Given the description of an element on the screen output the (x, y) to click on. 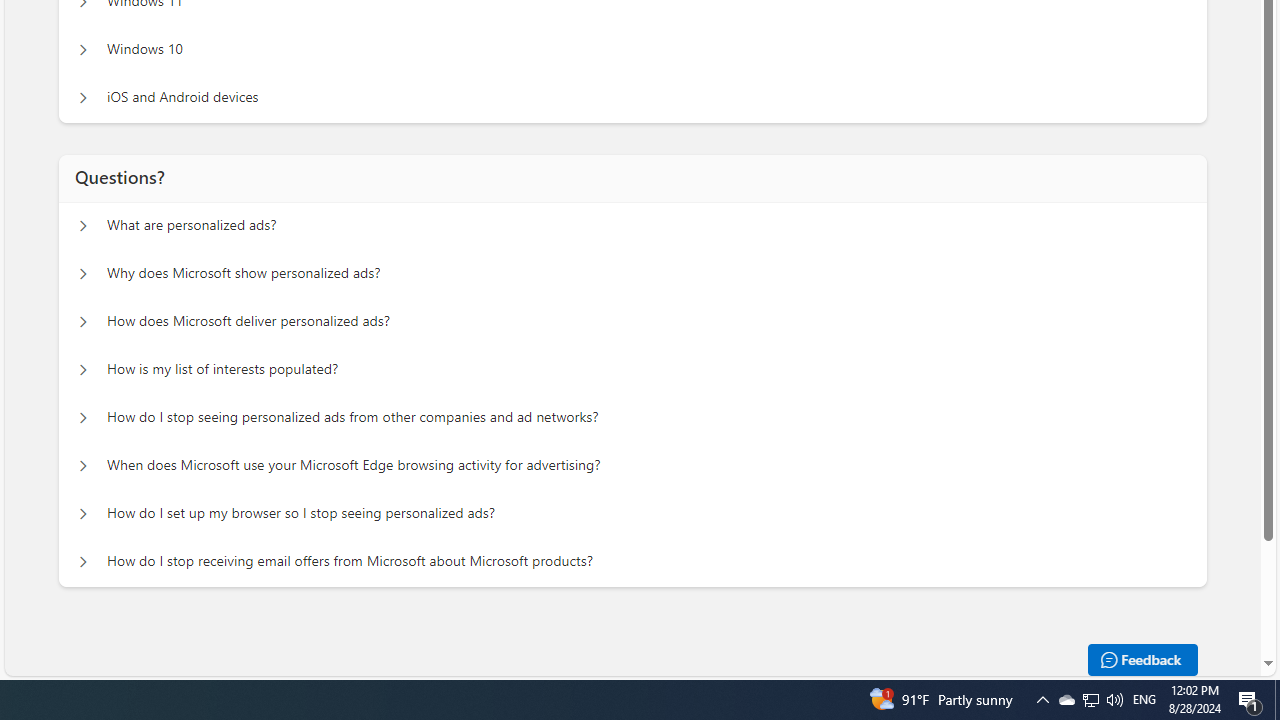
Questions? Why does Microsoft show personalized ads? (82, 273)
Manage personalized ads on your device Windows 10 (82, 49)
Questions? How is my list of interests populated? (82, 370)
Questions? What are personalized ads? (82, 226)
